Given the description of an element on the screen output the (x, y) to click on. 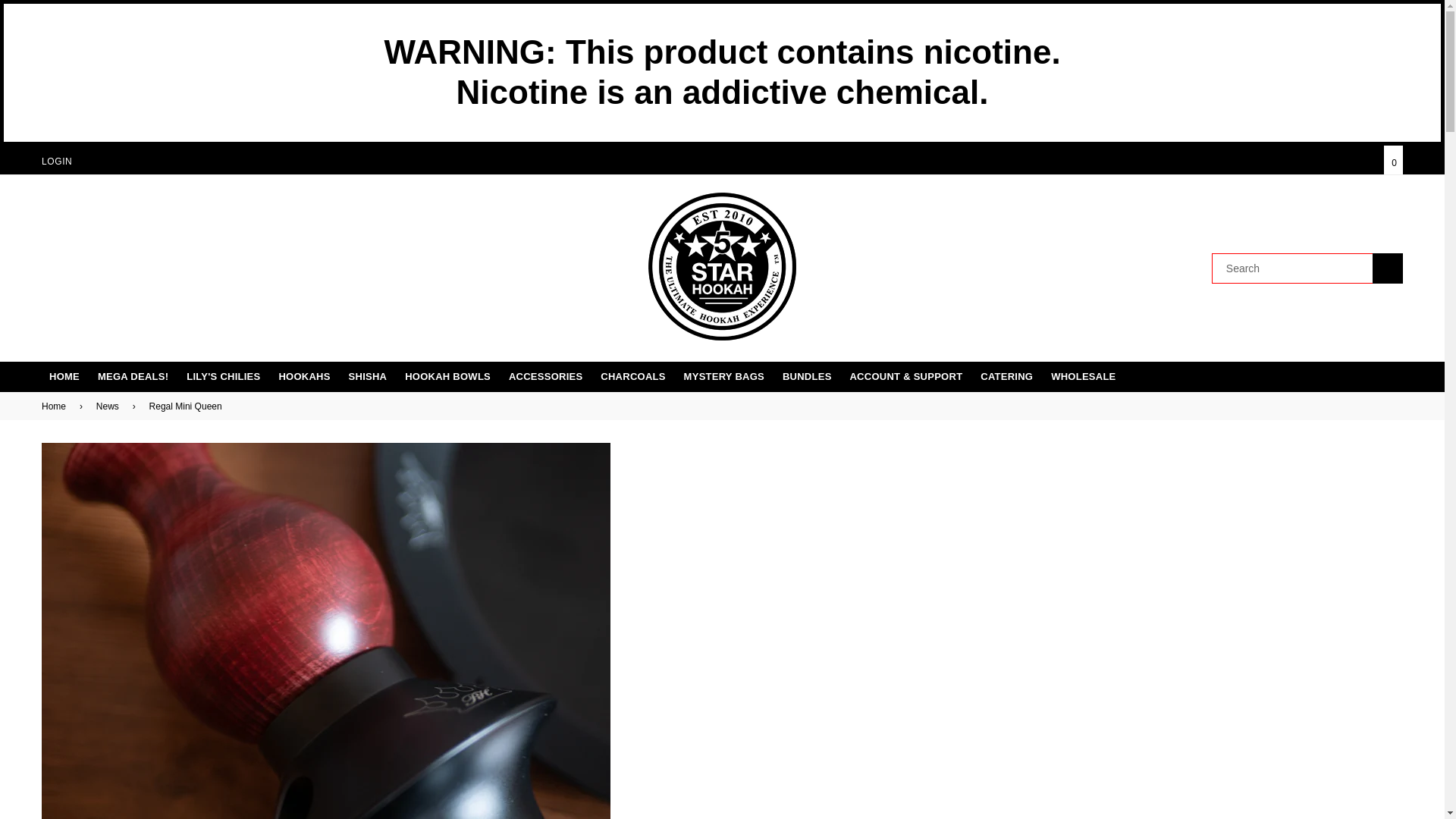
LOGIN (56, 161)
HOOKAHS (303, 376)
SUBMIT (1388, 268)
LILY'S CHILIES (223, 376)
HOME (64, 376)
MEGA DEALS! (133, 376)
Back to the home page (56, 406)
